Given the description of an element on the screen output the (x, y) to click on. 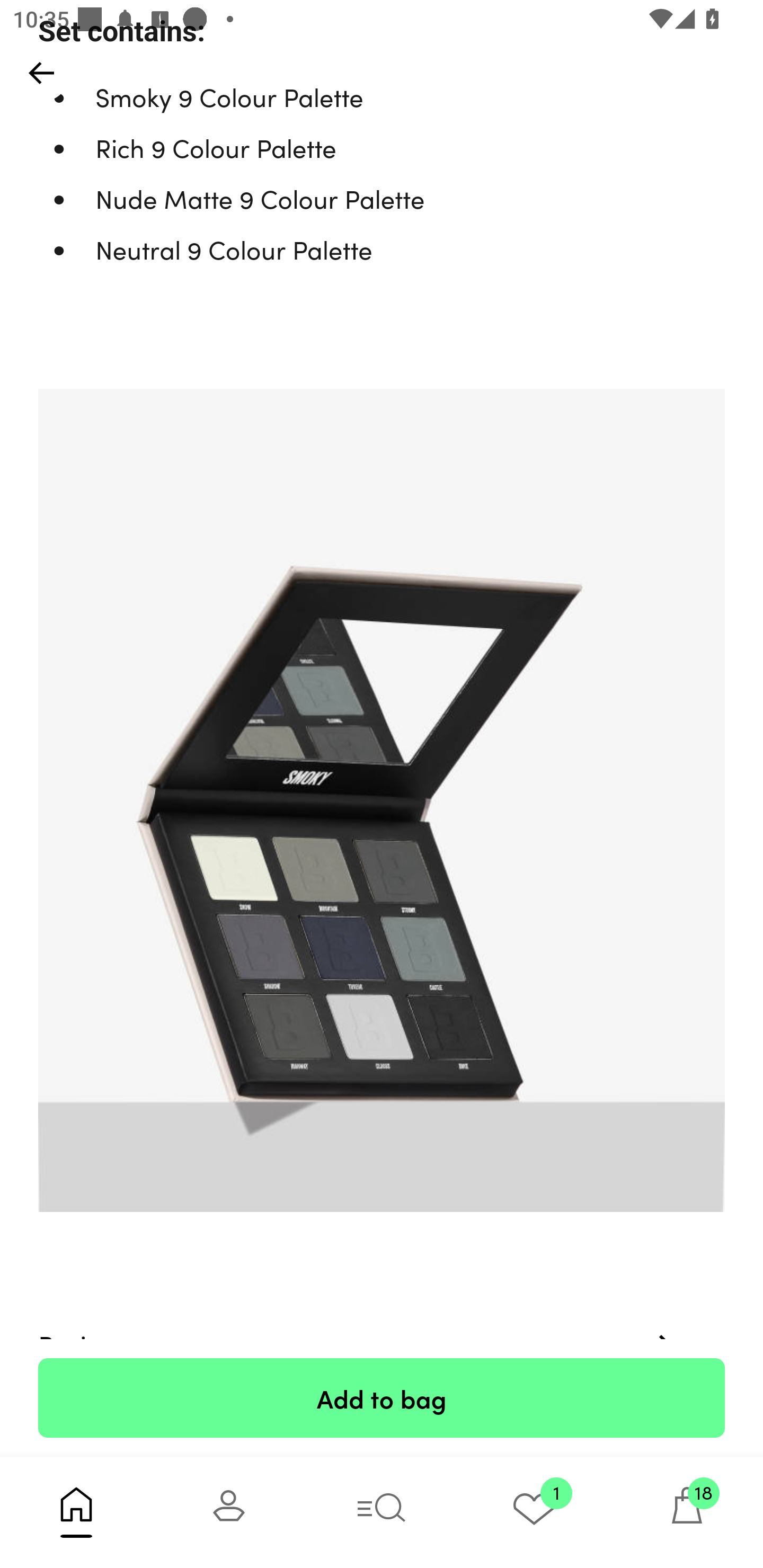
Add to bag (381, 1397)
1 (533, 1512)
18 (686, 1512)
